Given the description of an element on the screen output the (x, y) to click on. 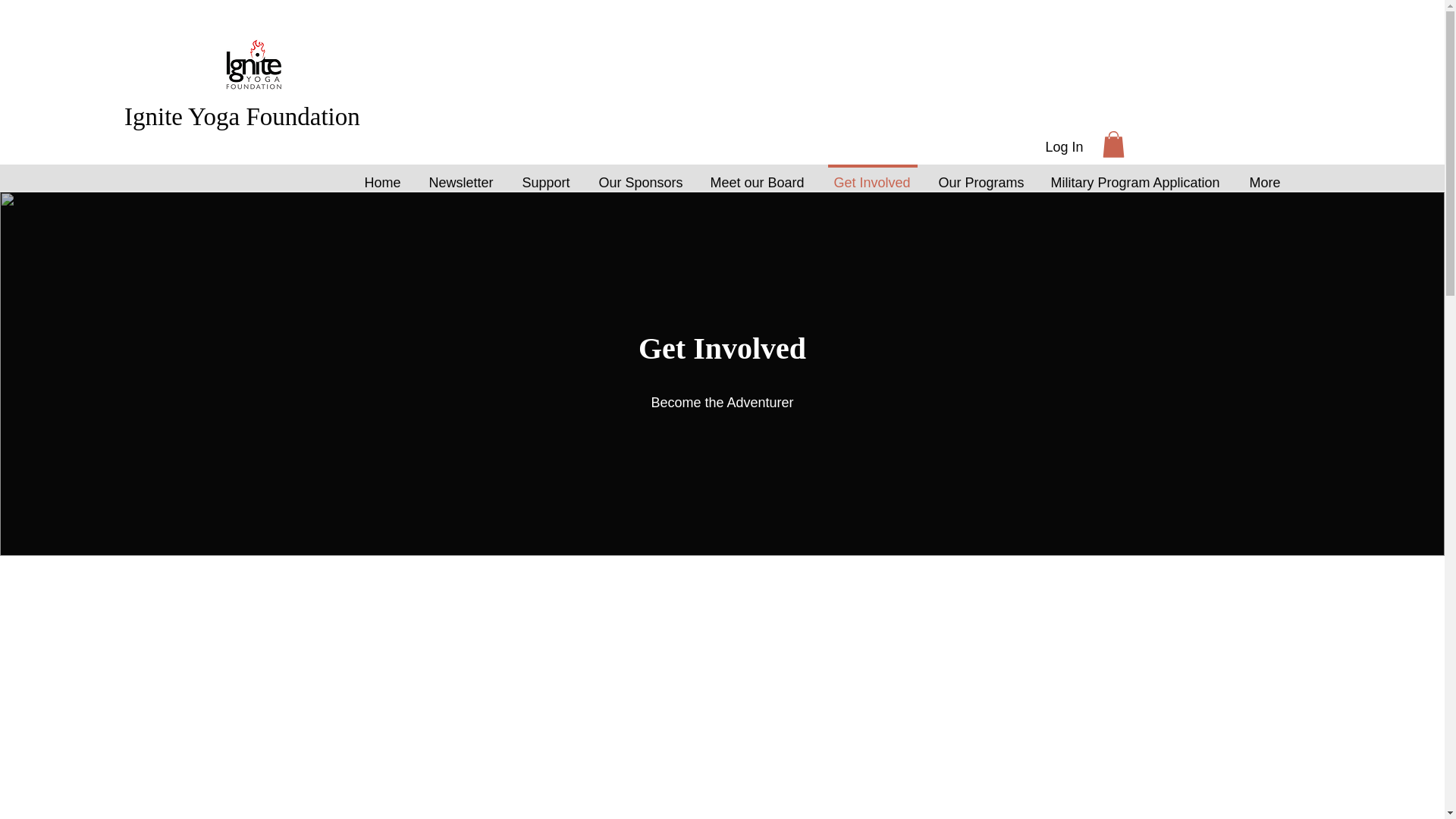
Log In (1063, 147)
Our Sponsors (641, 175)
Meet our Board (757, 175)
Military Program Application (1136, 175)
Ignite Yoga Foundation (241, 116)
Support (546, 175)
Home (382, 175)
Newsletter (461, 175)
Our Programs (980, 175)
Get Involved (872, 175)
